Given the description of an element on the screen output the (x, y) to click on. 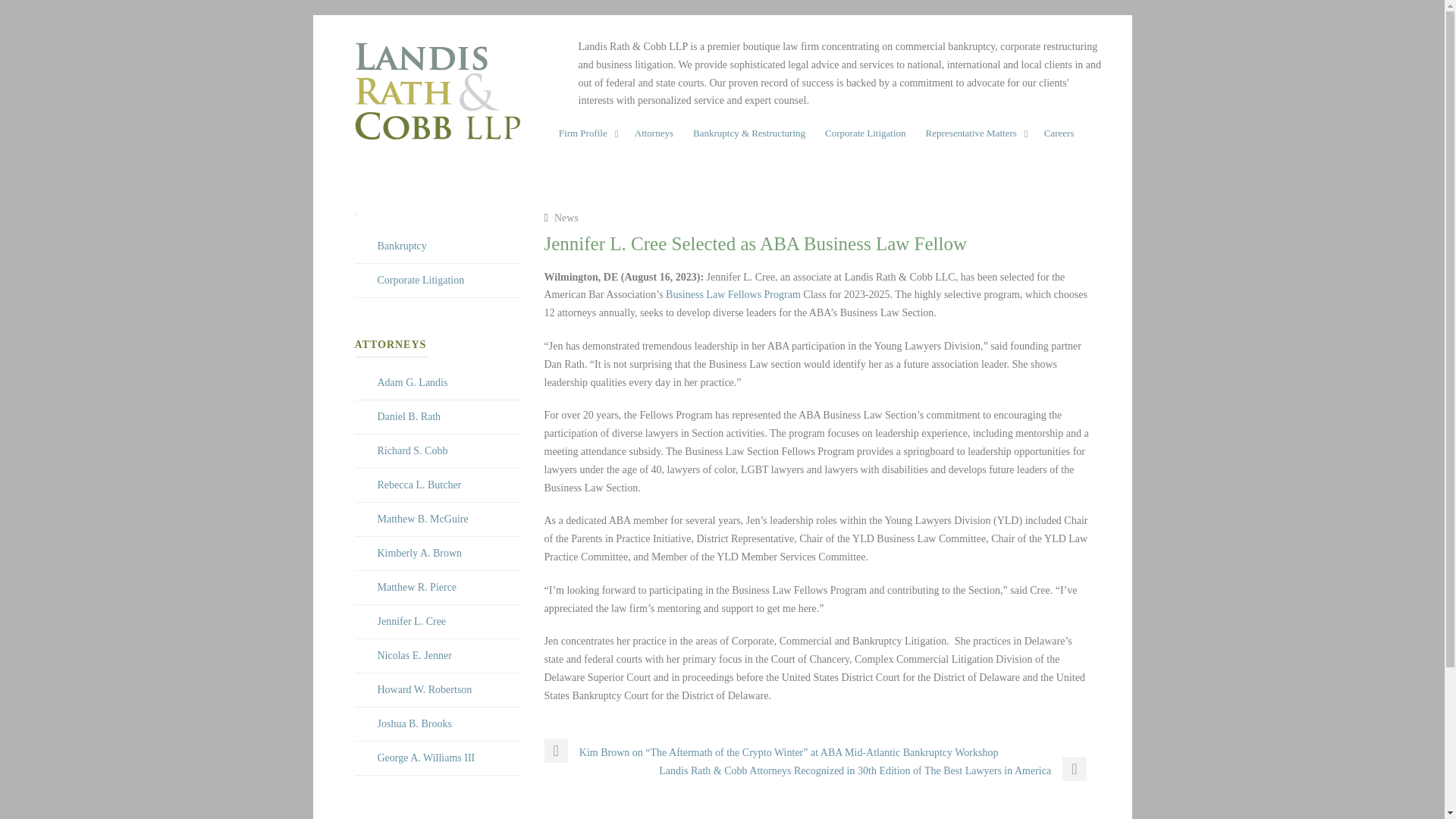
Rebecca L. Butcher (419, 484)
Richard S. Cobb (412, 450)
Adam G. Landis (412, 382)
Kimberly A. Brown (420, 552)
Howard W. Robertson (424, 689)
Jennifer L. Cree (411, 621)
Firm Profile (586, 137)
Corporate Litigation (420, 279)
Attorneys (653, 137)
Daniel B. Rath (409, 416)
Matthew R. Pierce (417, 586)
Nicolas E. Jenner (414, 655)
Business Law Fellows Program (732, 294)
Careers (1059, 137)
Bankruptcy (401, 245)
